Given the description of an element on the screen output the (x, y) to click on. 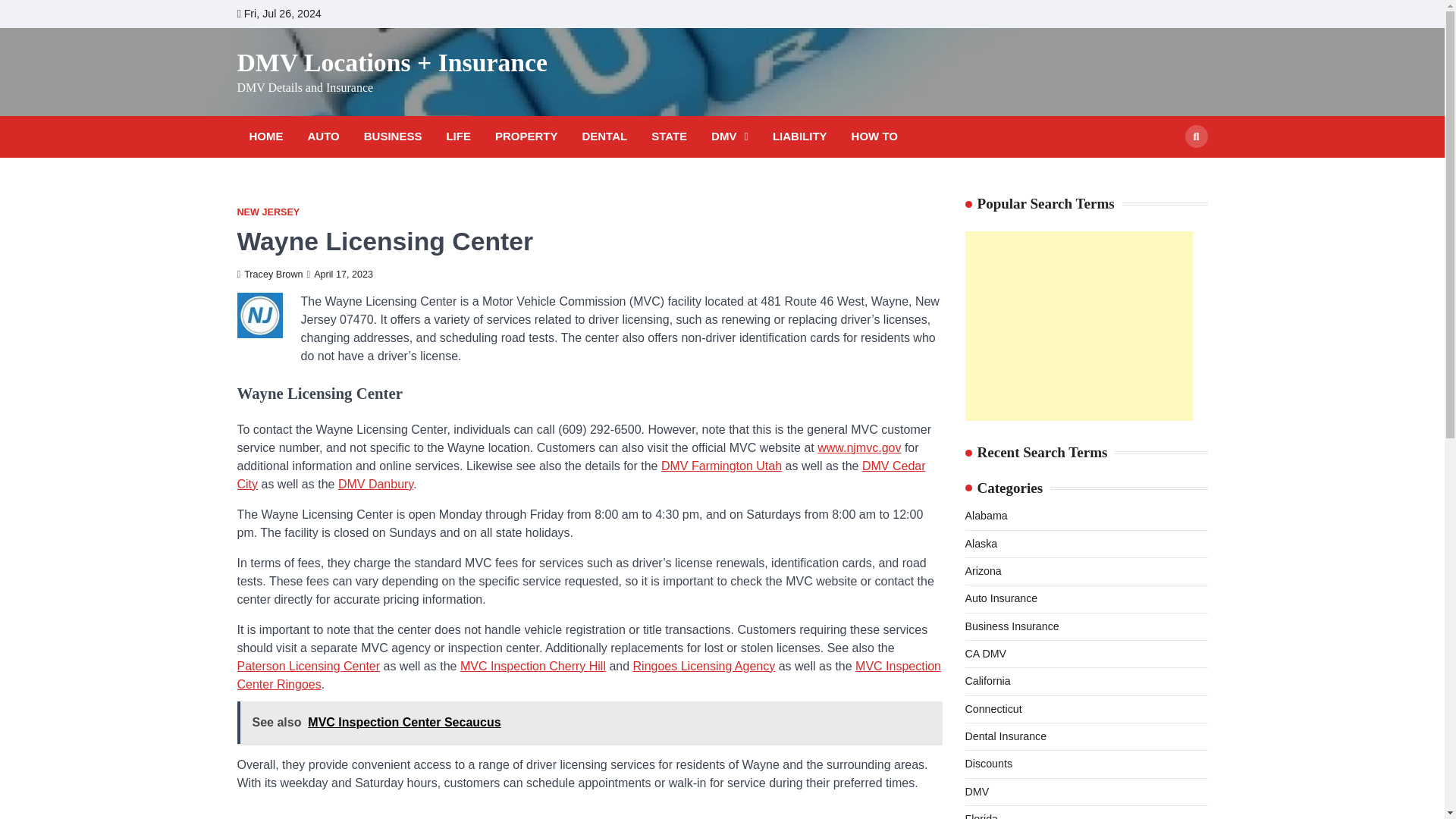
Ringoes Licensing Agency (704, 666)
April 17, 2023 (340, 274)
DMV Farmington Utah (721, 465)
STATE (669, 136)
See also  MVC Inspection Center Secaucus (588, 722)
DMV Danbury (375, 483)
MVC Inspection Cherry Hill (532, 666)
DENTAL (604, 136)
Auto Insurance (323, 136)
PROPERTY (526, 136)
MVC Inspection Center Ringoes (587, 675)
Property Insurance (526, 136)
www.njmvc.gov (858, 447)
Search (1196, 136)
Business Insurance (393, 136)
